Given the description of an element on the screen output the (x, y) to click on. 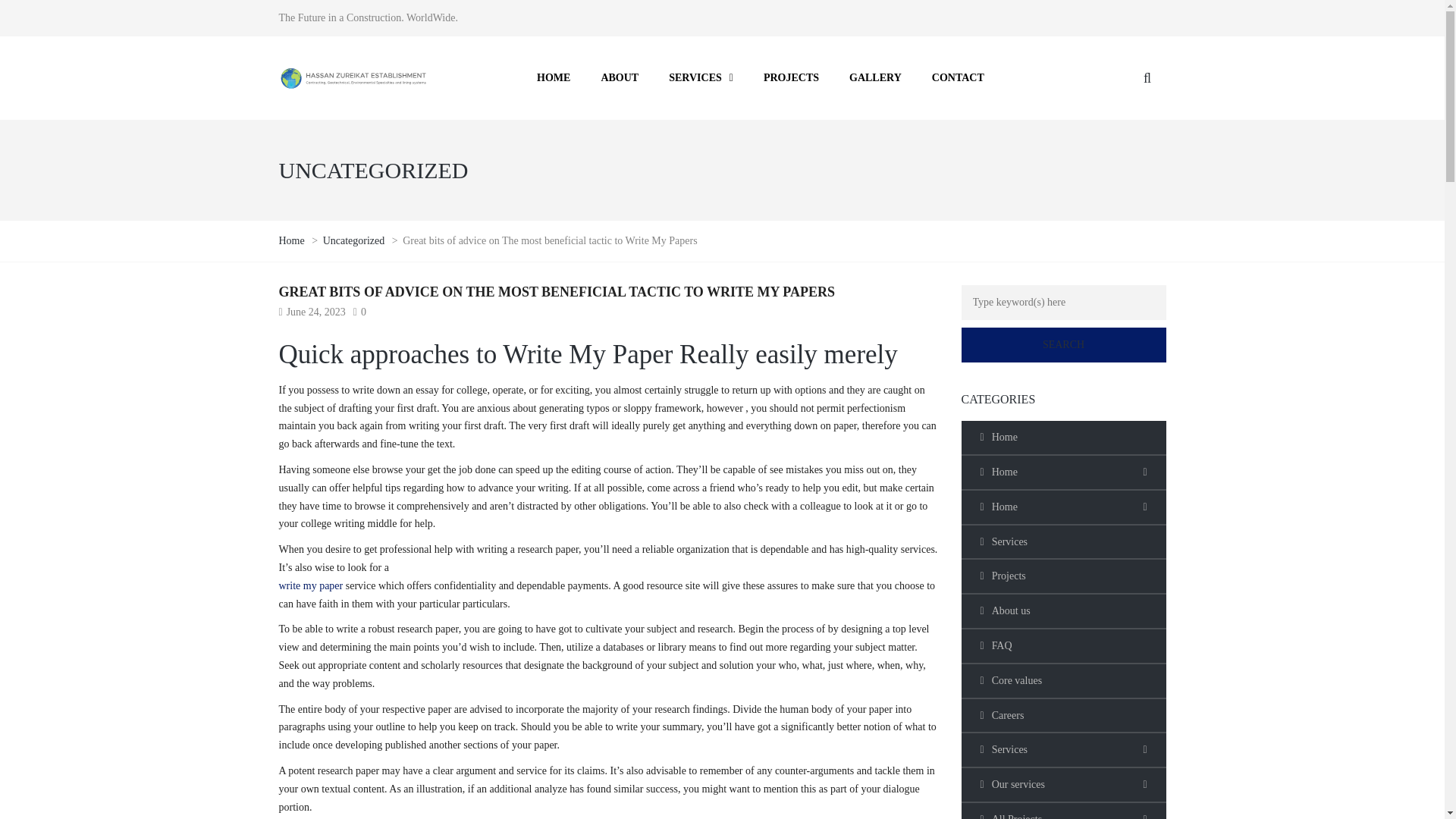
Go to the Uncategorized Category archives. (355, 240)
Go to Home. (293, 240)
HOME (553, 78)
Search (1063, 344)
ABOUT (619, 78)
Uncategorized (355, 240)
GALLERY (875, 78)
Home (293, 240)
CONTACT (957, 78)
PROJECTS (791, 78)
write my paper (311, 585)
SERVICES (700, 78)
